Given the description of an element on the screen output the (x, y) to click on. 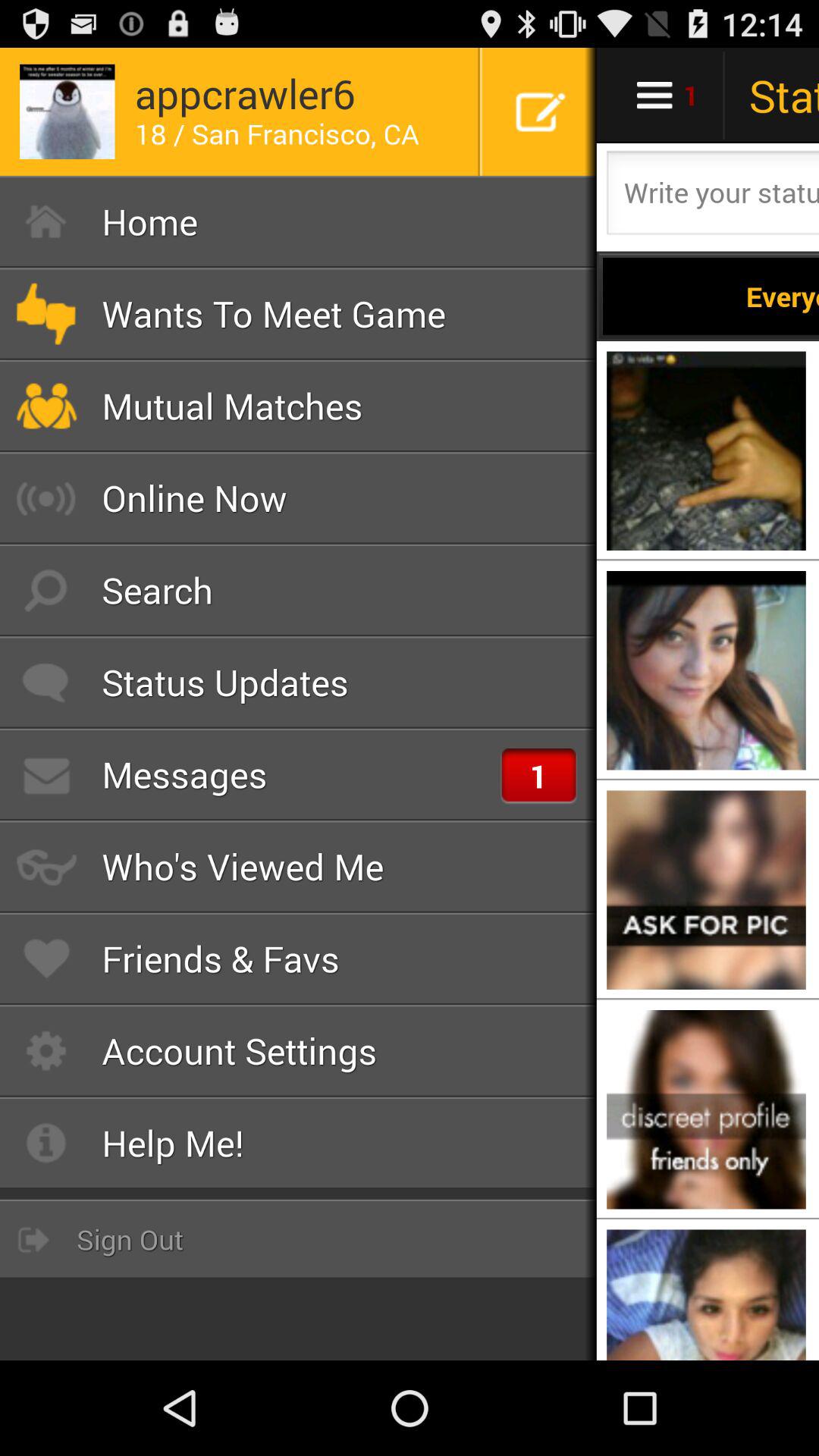
turn on account settings icon (298, 1050)
